Given the description of an element on the screen output the (x, y) to click on. 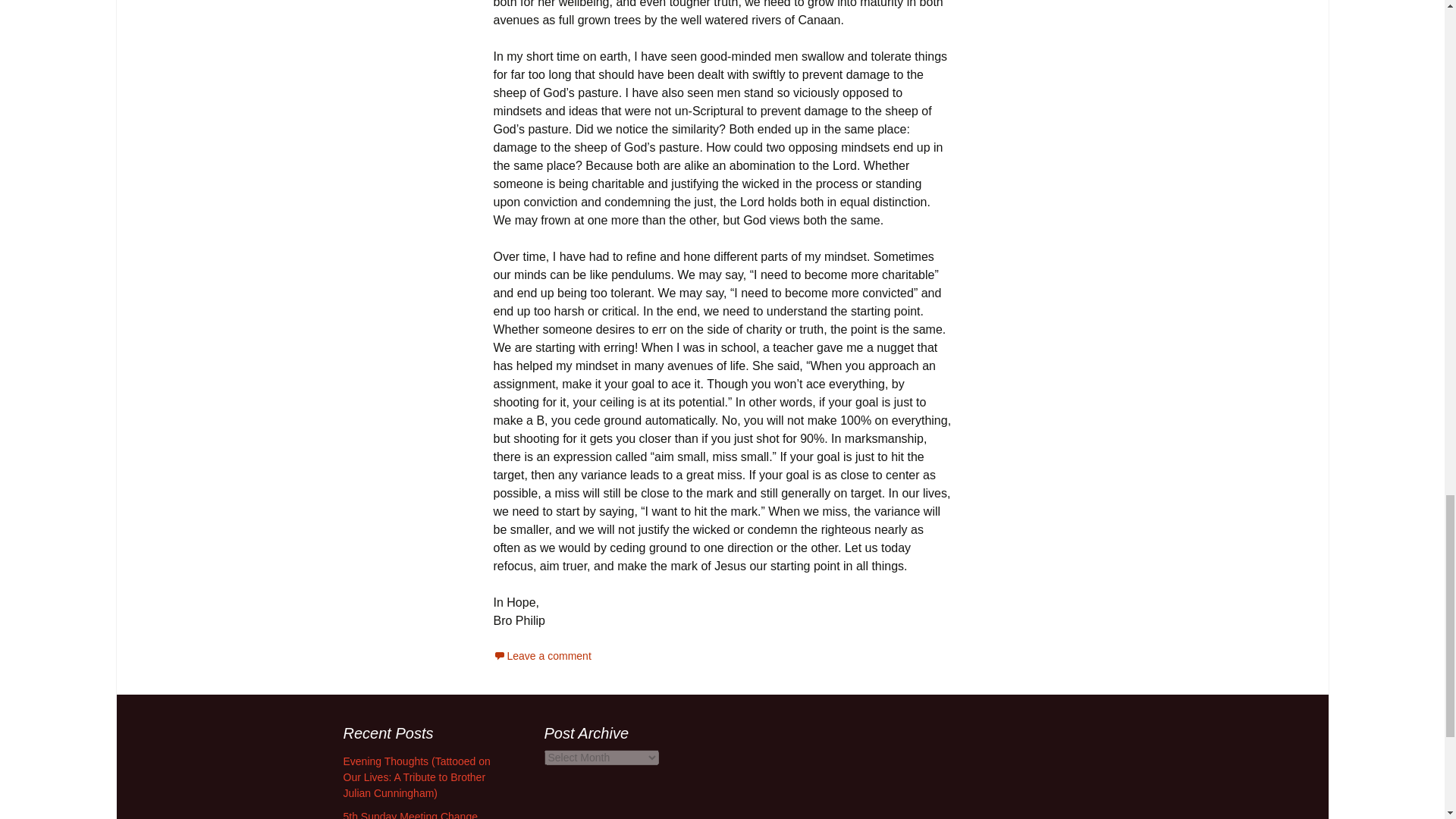
5th Sunday Meeting Change (409, 814)
Leave a comment (542, 655)
